Given the description of an element on the screen output the (x, y) to click on. 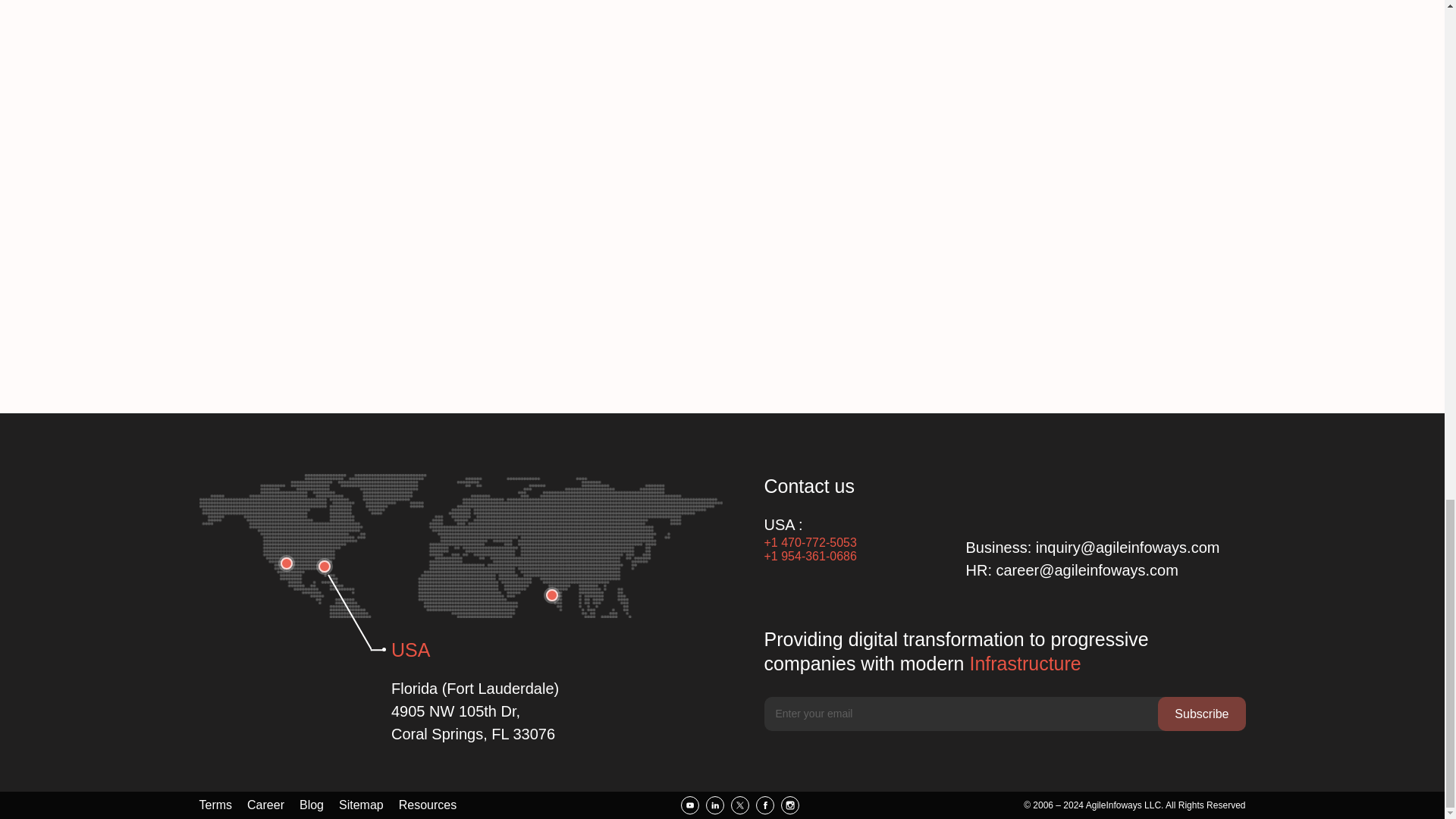
Sitemap (361, 804)
Terms (214, 804)
Resources (427, 804)
Career (265, 804)
Infrastructure (1024, 663)
Blog (311, 804)
Subscribe (1200, 713)
